Given the description of an element on the screen output the (x, y) to click on. 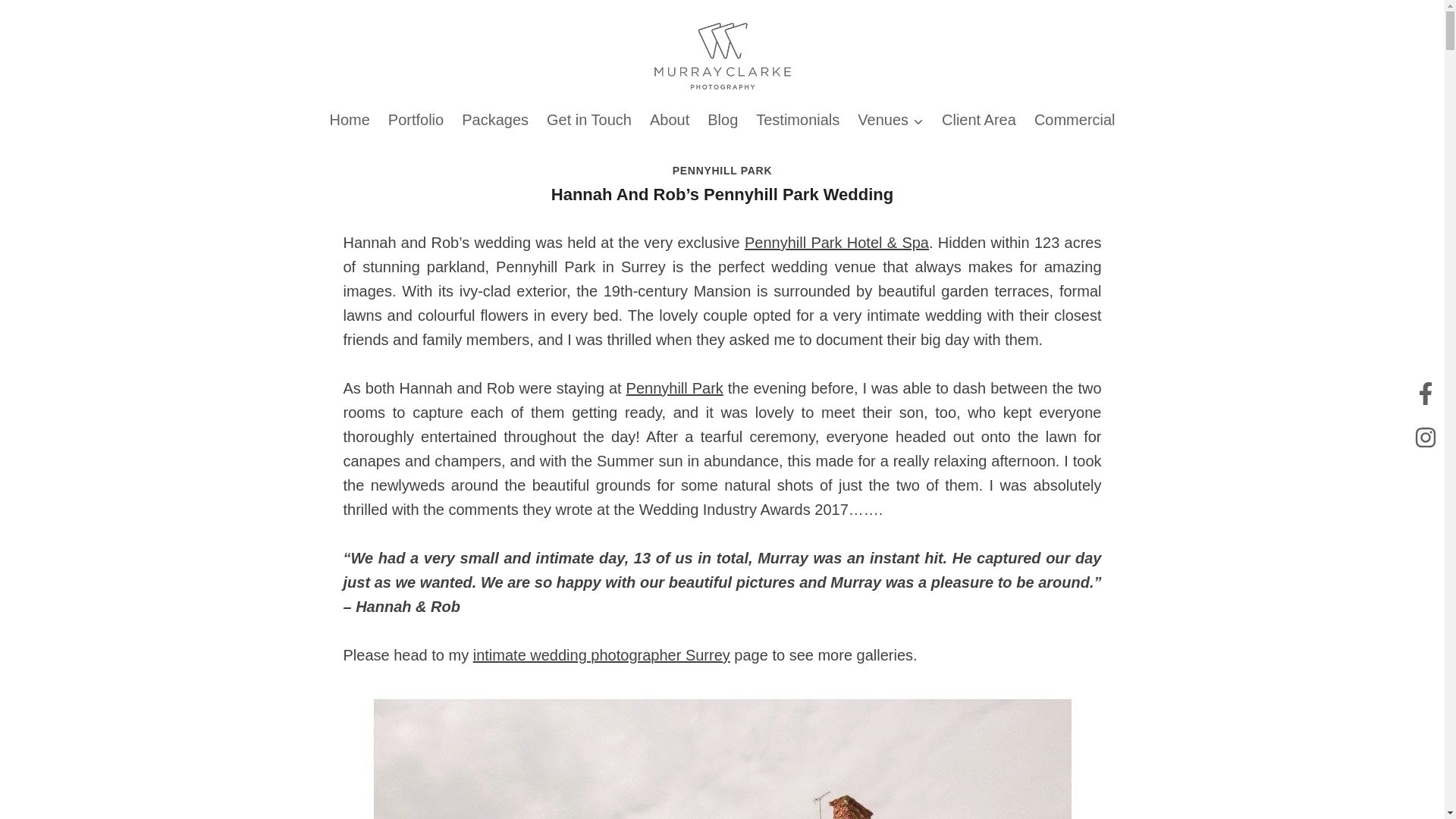
Commercial (1074, 119)
Testimonials (797, 119)
Packages (494, 119)
PENNYHILL PARK (721, 170)
Client Area (979, 119)
Pennyhill Park (674, 388)
Home (349, 119)
Get in Touch (588, 119)
